Given the description of an element on the screen output the (x, y) to click on. 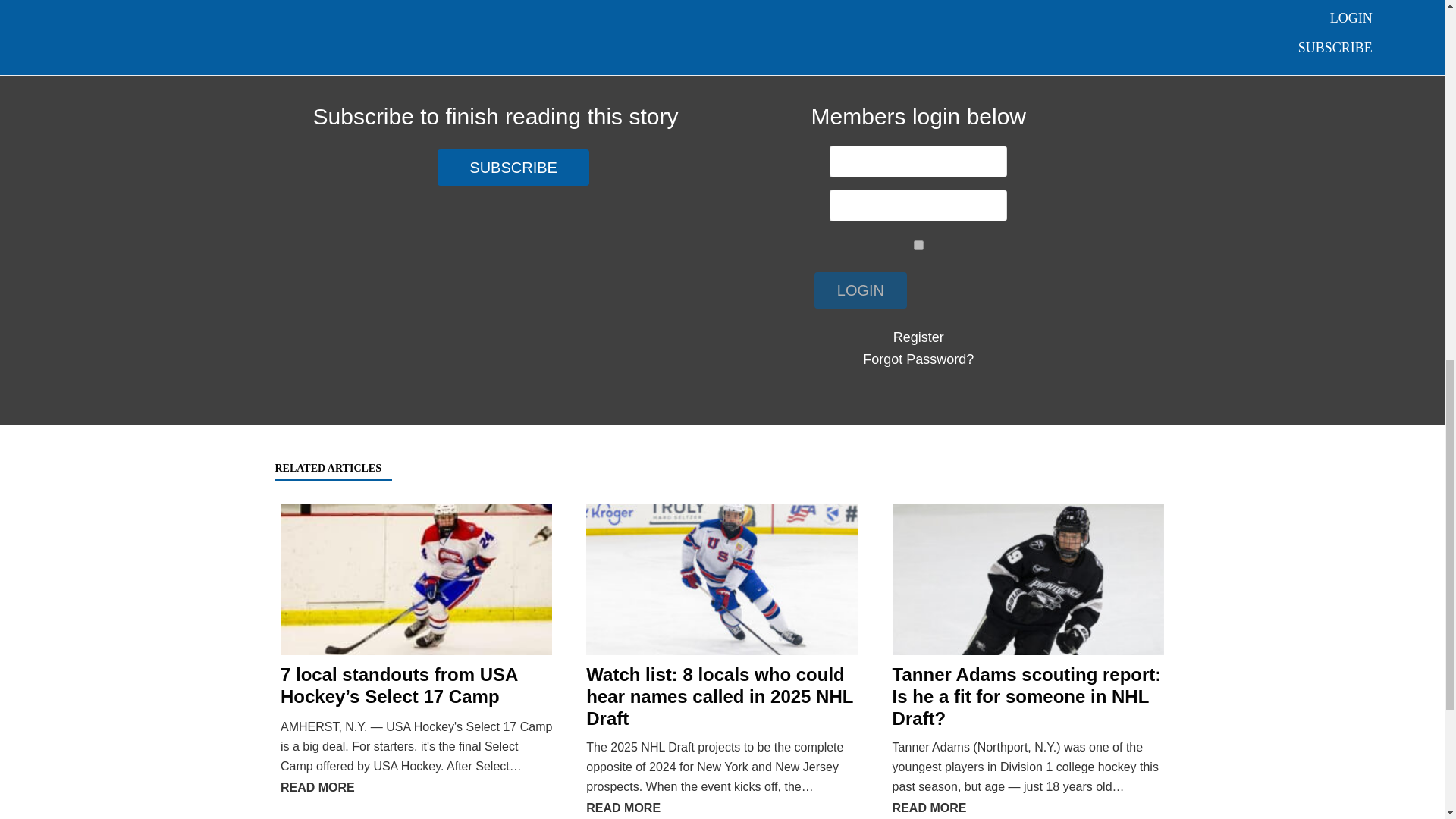
READ MORE (929, 807)
Forgot Password? (918, 359)
Login (860, 290)
1 (918, 245)
Forgot Password? (918, 359)
SUBSCRIBE (513, 167)
READ MORE (318, 787)
READ MORE (623, 807)
Register (918, 337)
Register (918, 337)
Login (860, 290)
